Given the description of an element on the screen output the (x, y) to click on. 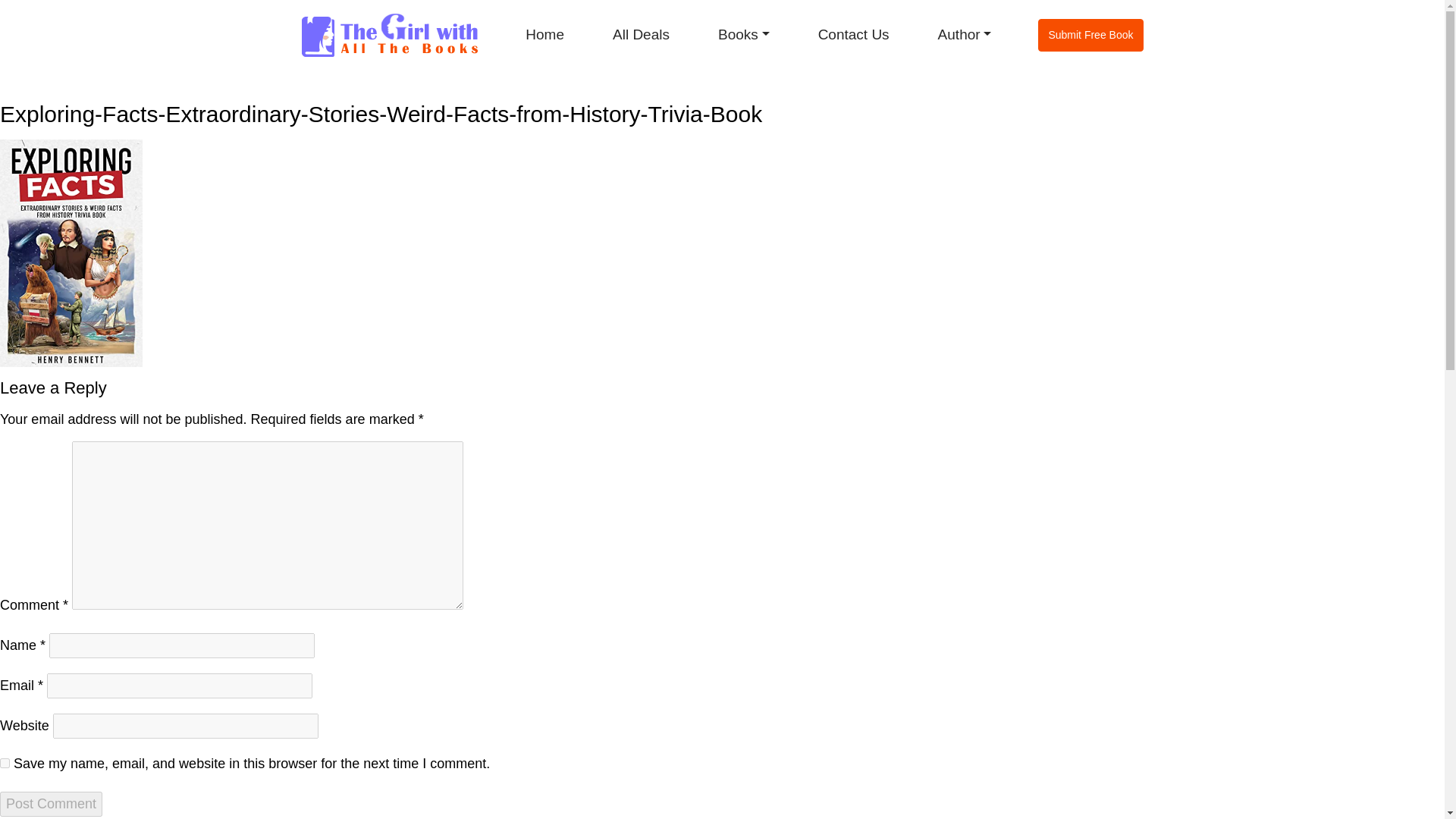
Books (743, 35)
Post Comment (50, 803)
Author (965, 35)
All Deals (640, 35)
Home (544, 35)
Post Comment (50, 803)
Submit Free Book (1090, 34)
yes (5, 763)
Contact Us (853, 35)
